Given the description of an element on the screen output the (x, y) to click on. 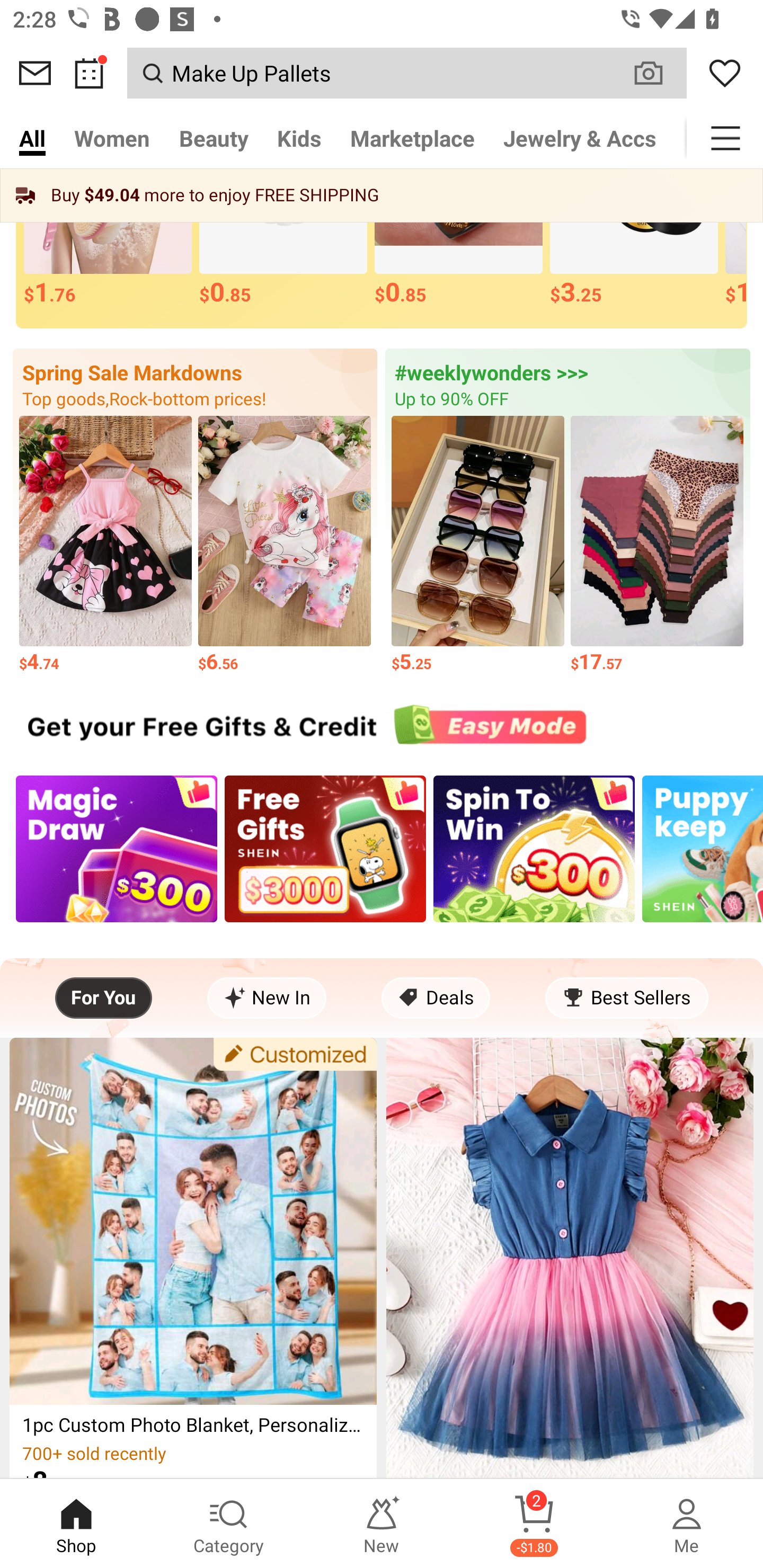
Wishlist (724, 72)
VISUAL SEARCH (657, 72)
All (31, 137)
Women (111, 137)
Beauty (213, 137)
Kids (298, 137)
Marketplace (412, 137)
Jewelry & Accs (580, 137)
Buy $49.04 more to enjoy FREE SHIPPING (381, 194)
$4.74 Price $4.74 (105, 544)
$6.56 Price $6.56 (284, 544)
$5.25 Price $5.25 (477, 544)
$17.57 Price $17.57 (656, 544)
New In (266, 998)
Deals (435, 998)
Best Sellers (626, 998)
Category (228, 1523)
New (381, 1523)
Cart 2 -$1.80 (533, 1523)
Me (686, 1523)
